Given the description of an element on the screen output the (x, y) to click on. 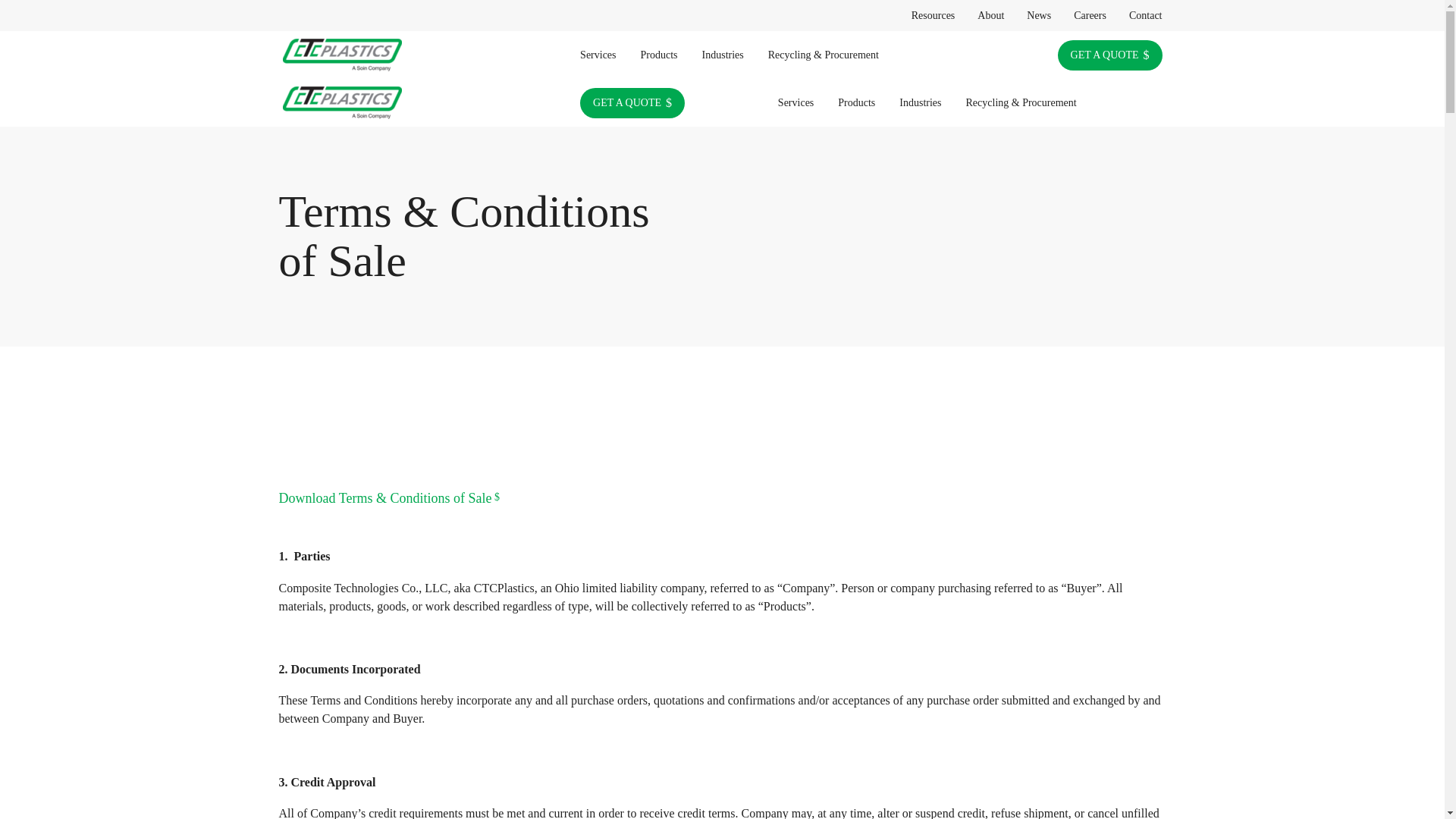
About (990, 15)
Industries (722, 55)
Contact (1145, 15)
Services (597, 55)
Careers (1090, 15)
Resources (933, 15)
News (1038, 15)
Products (659, 55)
